Given the description of an element on the screen output the (x, y) to click on. 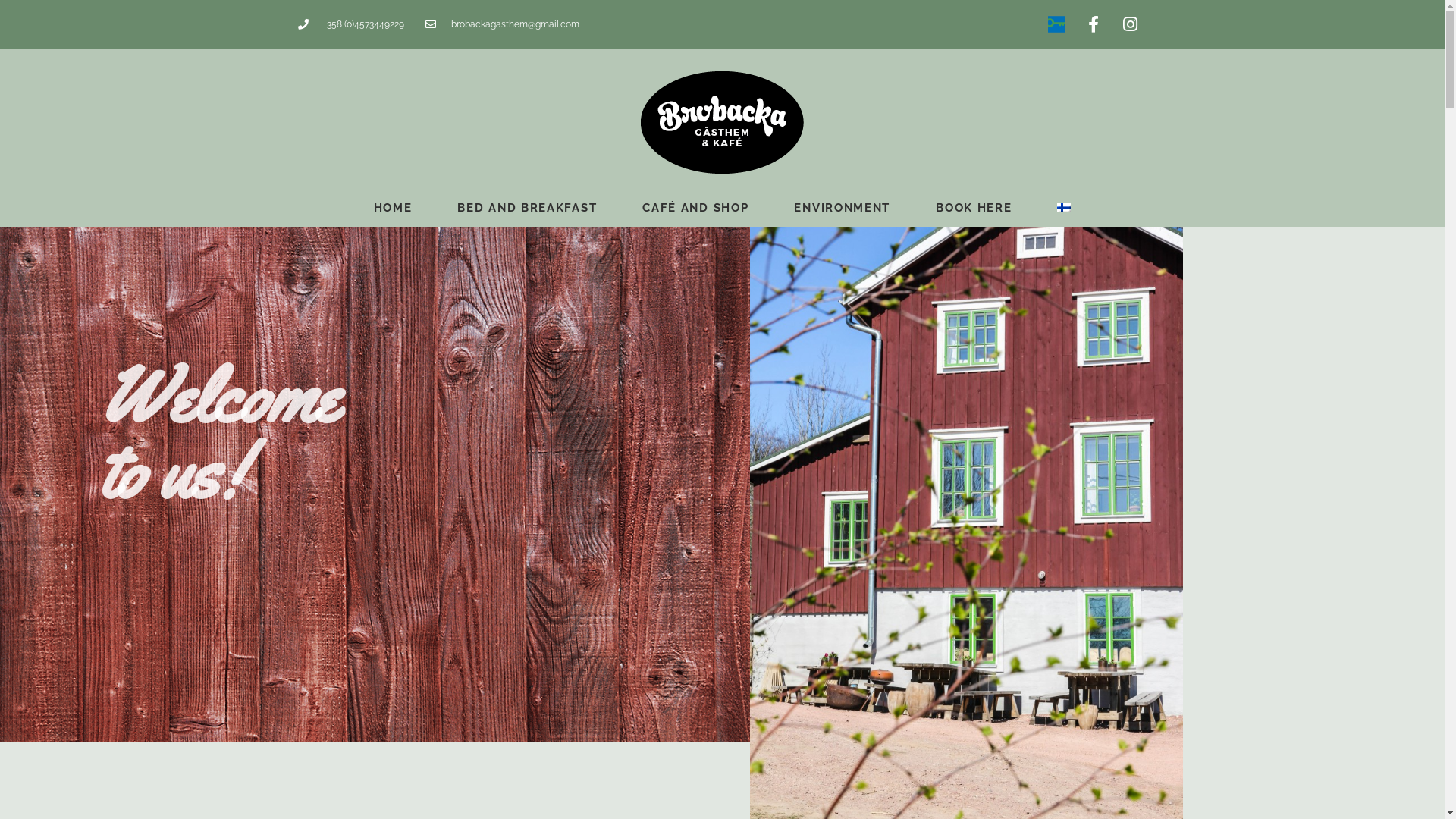
HOME Element type: text (393, 207)
BOOK HERE Element type: text (973, 207)
ENVIRONMENT Element type: text (842, 207)
+358 (0)4573449229 Element type: text (350, 24)
brobackagasthem@gmail.com Element type: text (502, 24)
BED AND BREAKFAST Element type: text (526, 207)
